Given the description of an element on the screen output the (x, y) to click on. 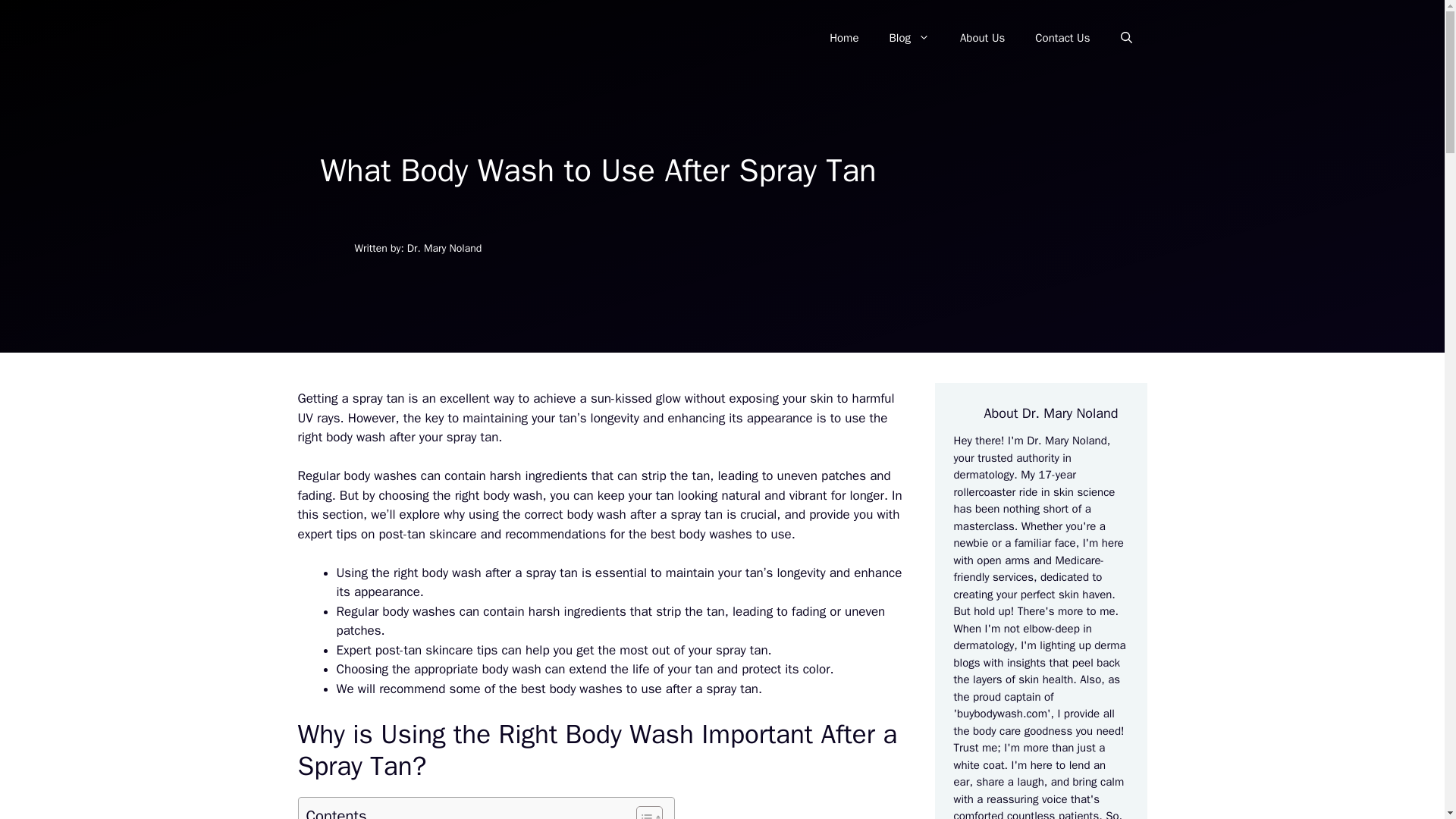
About Us (982, 37)
Home (843, 37)
Contact Us (1062, 37)
buybodywash.com (1001, 713)
Blog (908, 37)
